Given the description of an element on the screen output the (x, y) to click on. 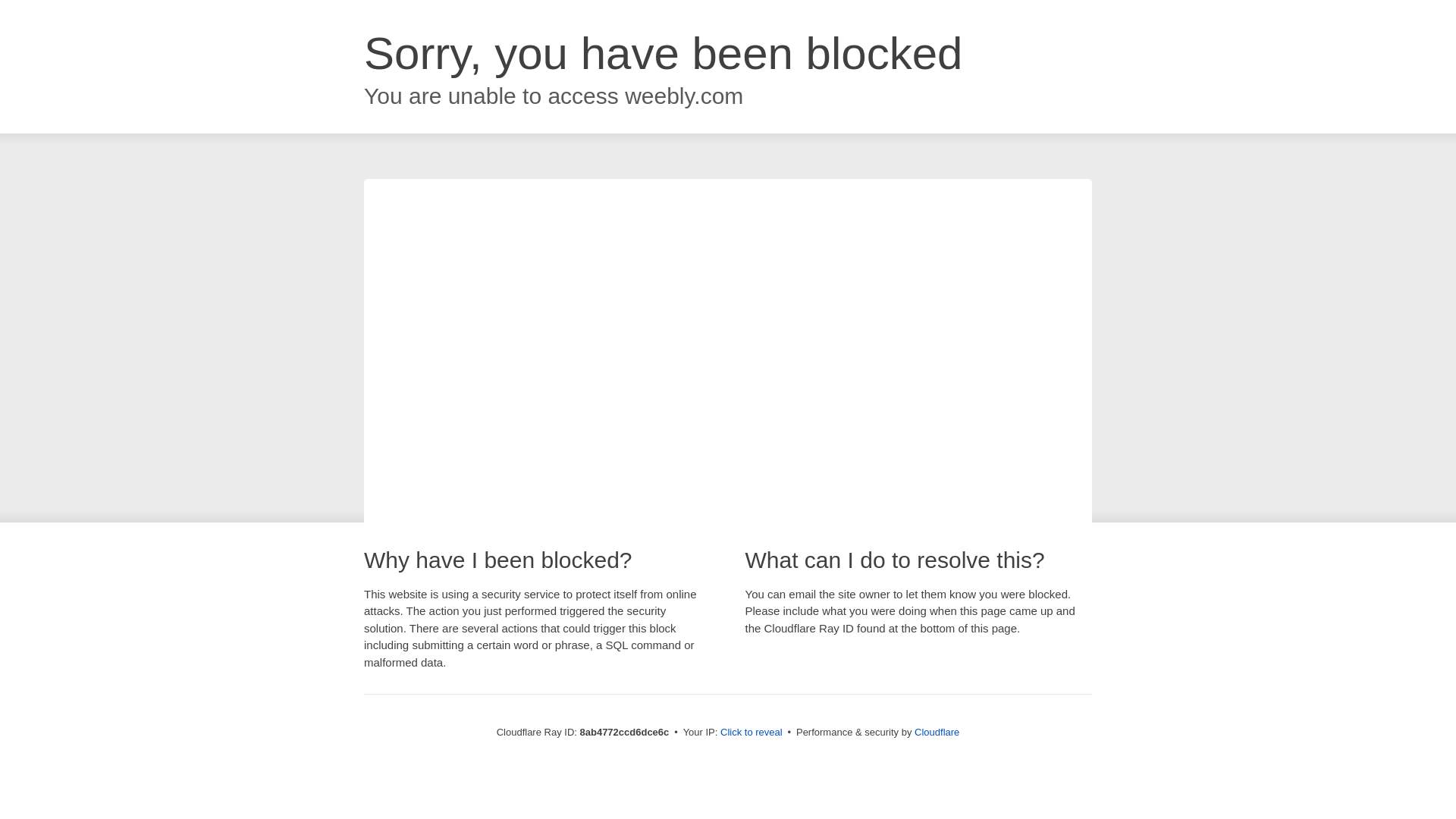
Click to reveal (751, 732)
Cloudflare (936, 731)
